Given the description of an element on the screen output the (x, y) to click on. 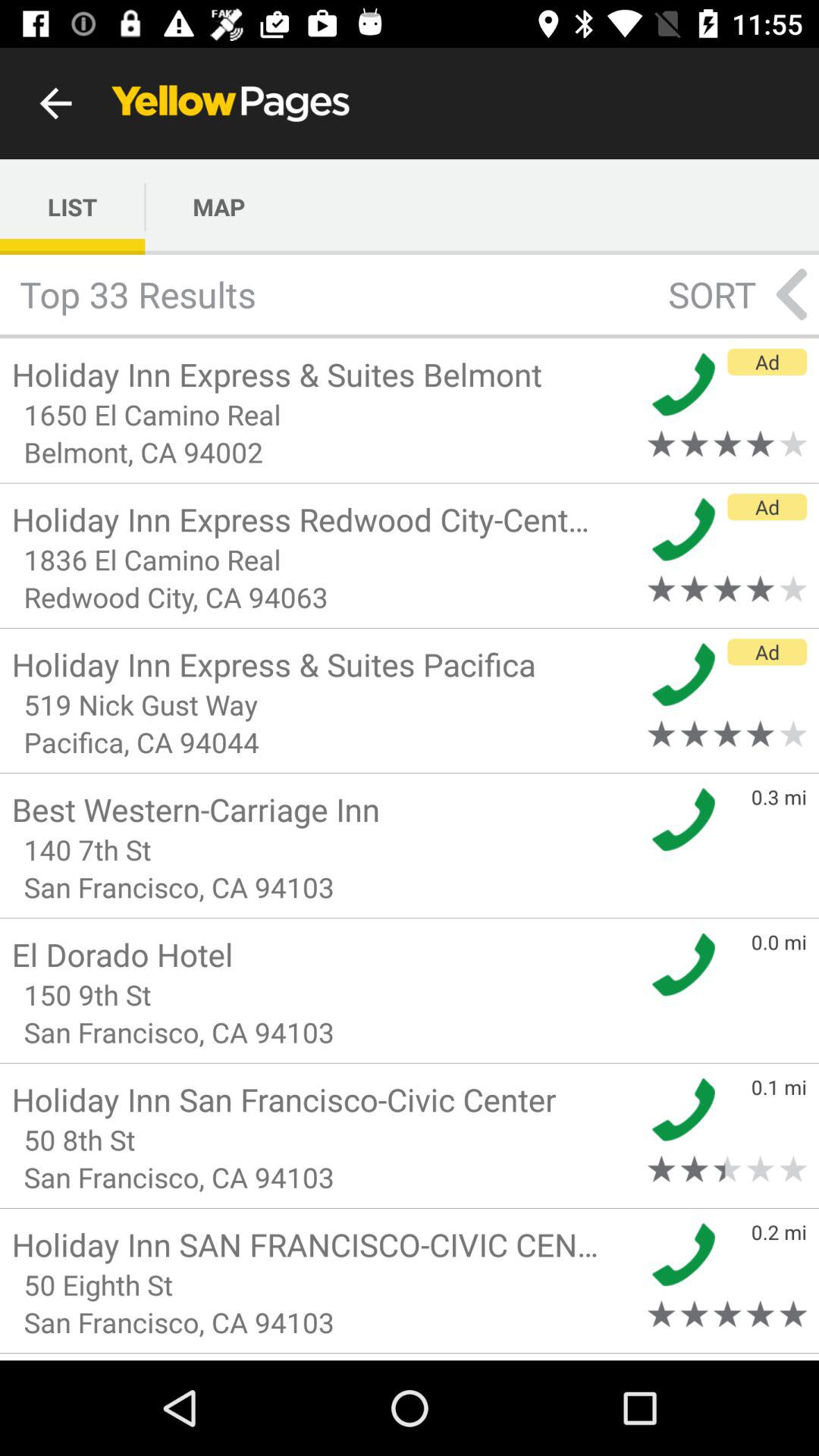
tap the icon above the san francisco ca item (324, 994)
